Given the description of an element on the screen output the (x, y) to click on. 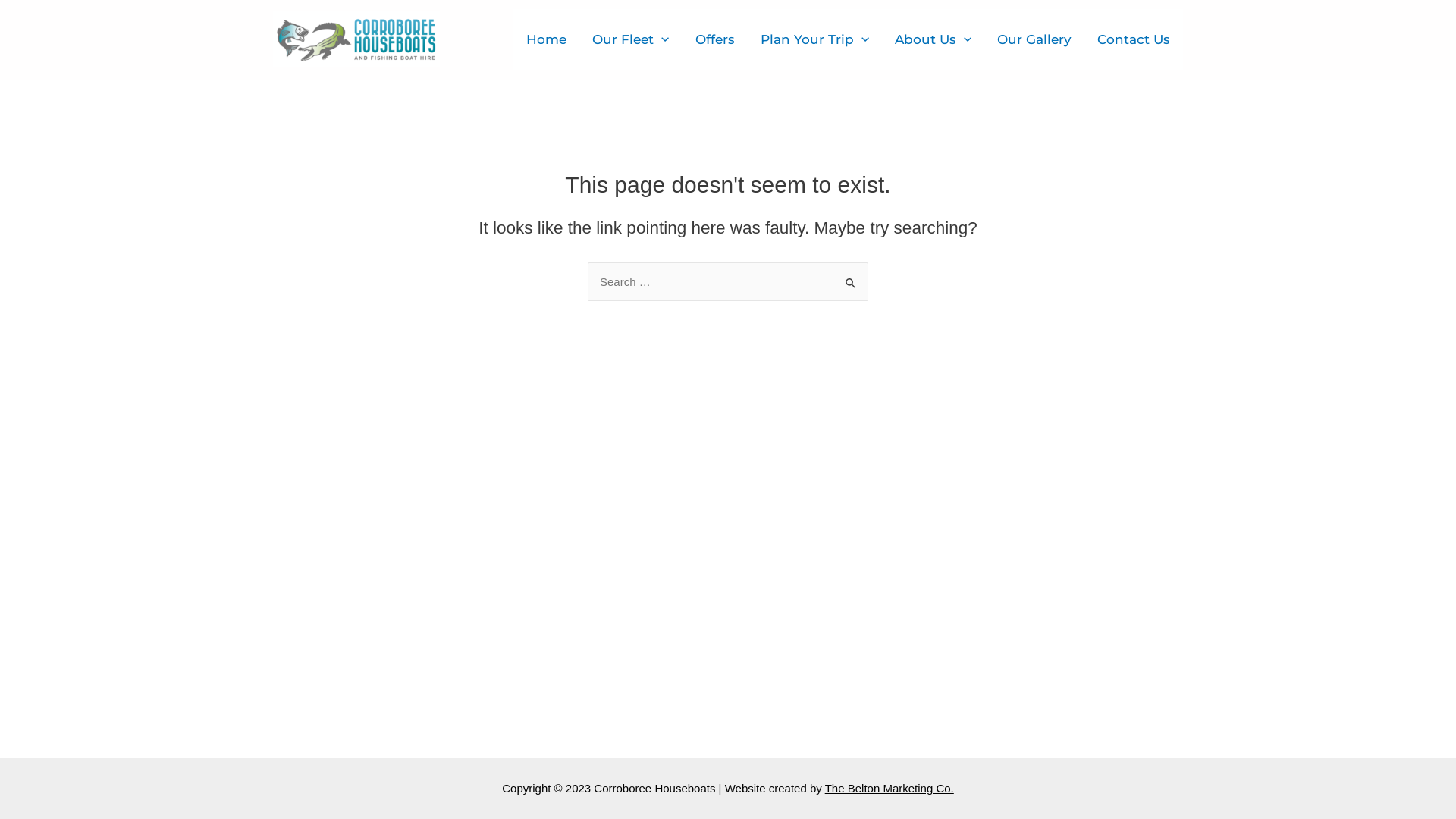
Plan Your Trip Element type: text (814, 39)
Search Element type: text (851, 277)
Our Fleet Element type: text (630, 39)
Offers Element type: text (714, 39)
Our Gallery Element type: text (1034, 39)
Home Element type: text (546, 39)
Contact Us Element type: text (1133, 39)
About Us Element type: text (932, 39)
The Belton Marketing Co. Element type: text (889, 787)
